Given the description of an element on the screen output the (x, y) to click on. 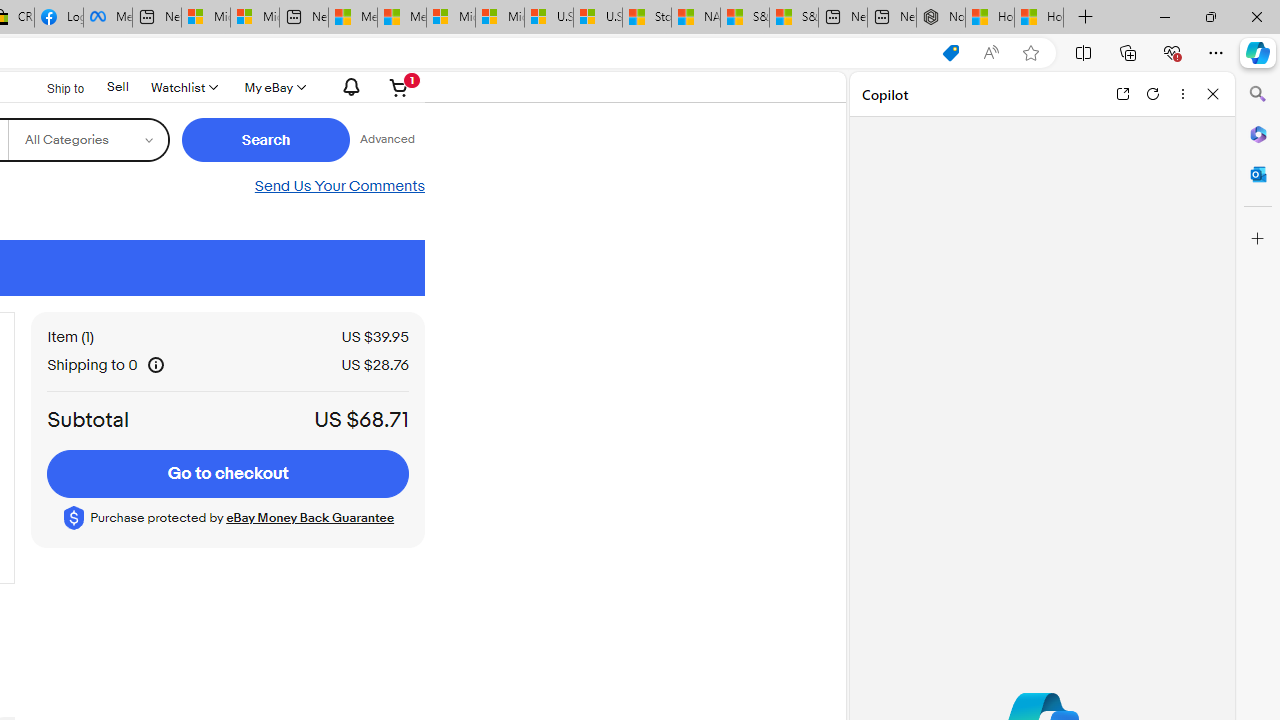
Ship to (52, 88)
